Given the description of an element on the screen output the (x, y) to click on. 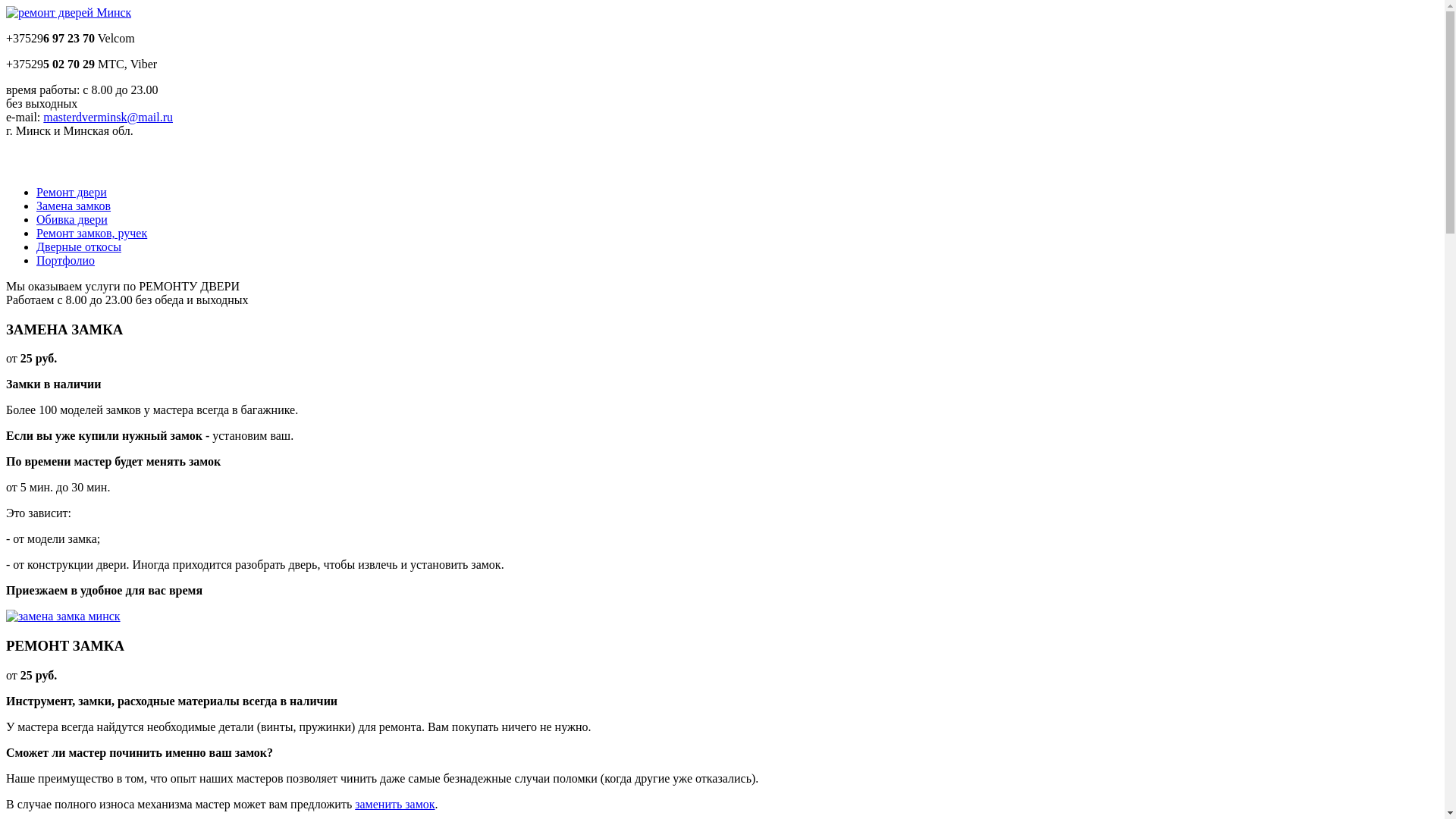
masterdverminsk@mail.ru Element type: text (107, 116)
